Given the description of an element on the screen output the (x, y) to click on. 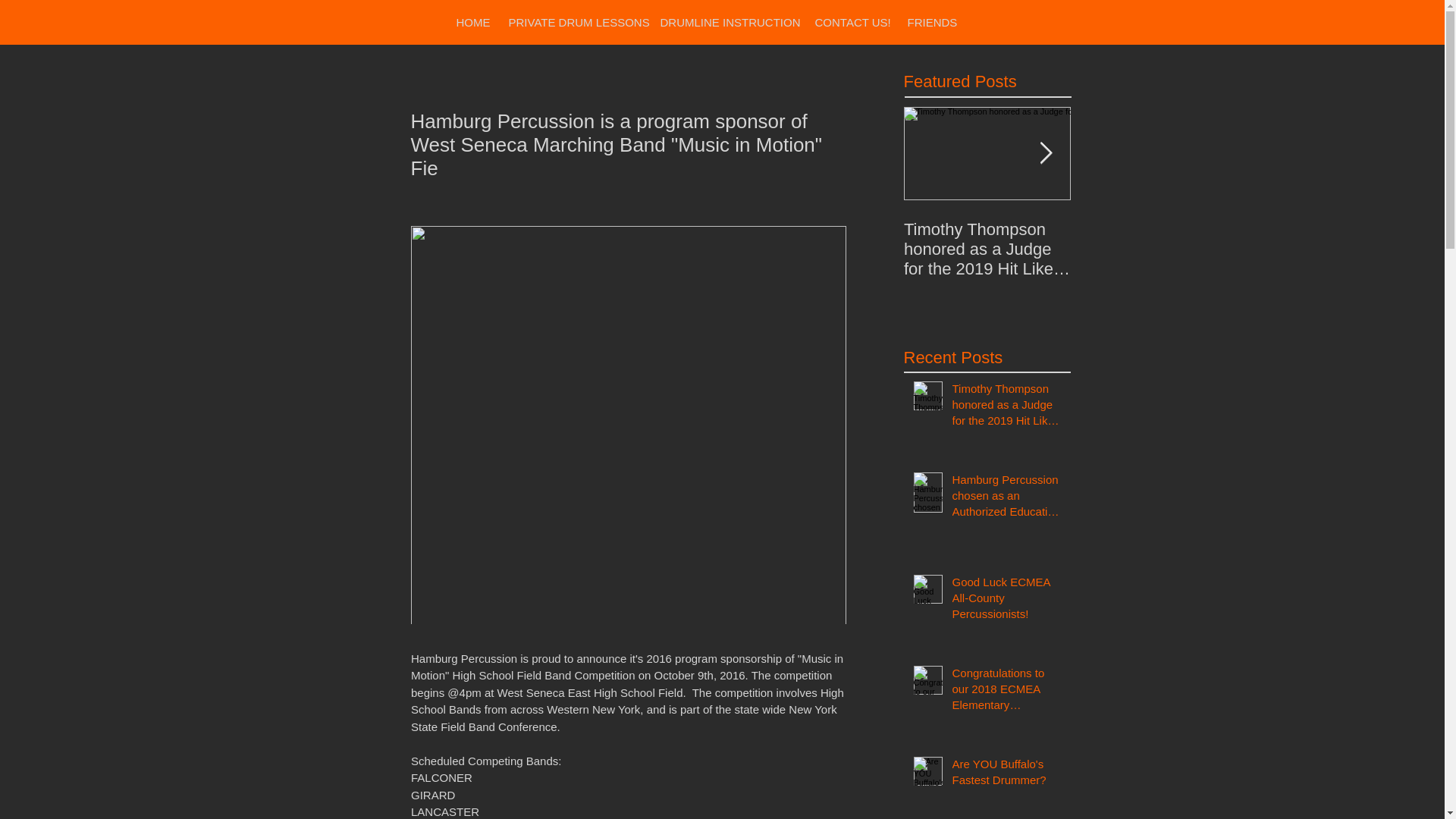
CONTACT US! (851, 21)
FRIENDS (930, 21)
Good Luck ECMEA All-County Percussionists! (1006, 601)
HOME (472, 21)
Are YOU Buffalo's Fastest Drummer? (1006, 774)
Congratulations to our 2018 ECMEA Elementary Participants! (1006, 692)
